Given the description of an element on the screen output the (x, y) to click on. 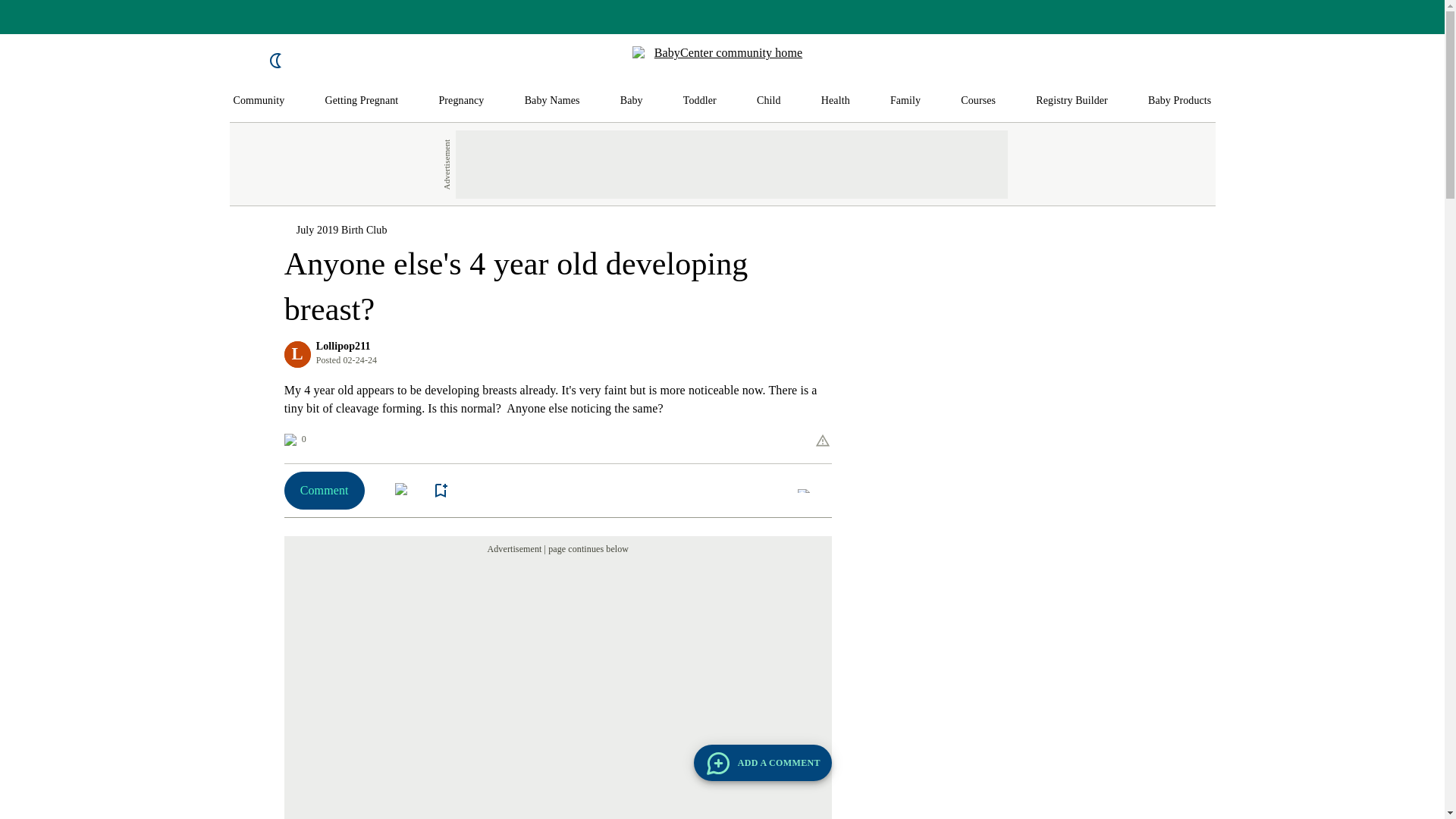
Courses (977, 101)
Baby Names (551, 101)
Baby (631, 101)
Registry Builder (1071, 101)
Getting Pregnant (360, 101)
Family (904, 101)
Child (768, 101)
Community (258, 101)
Pregnancy (460, 101)
Health (835, 101)
Toddler (699, 101)
Baby Products (1179, 101)
